Given the description of an element on the screen output the (x, y) to click on. 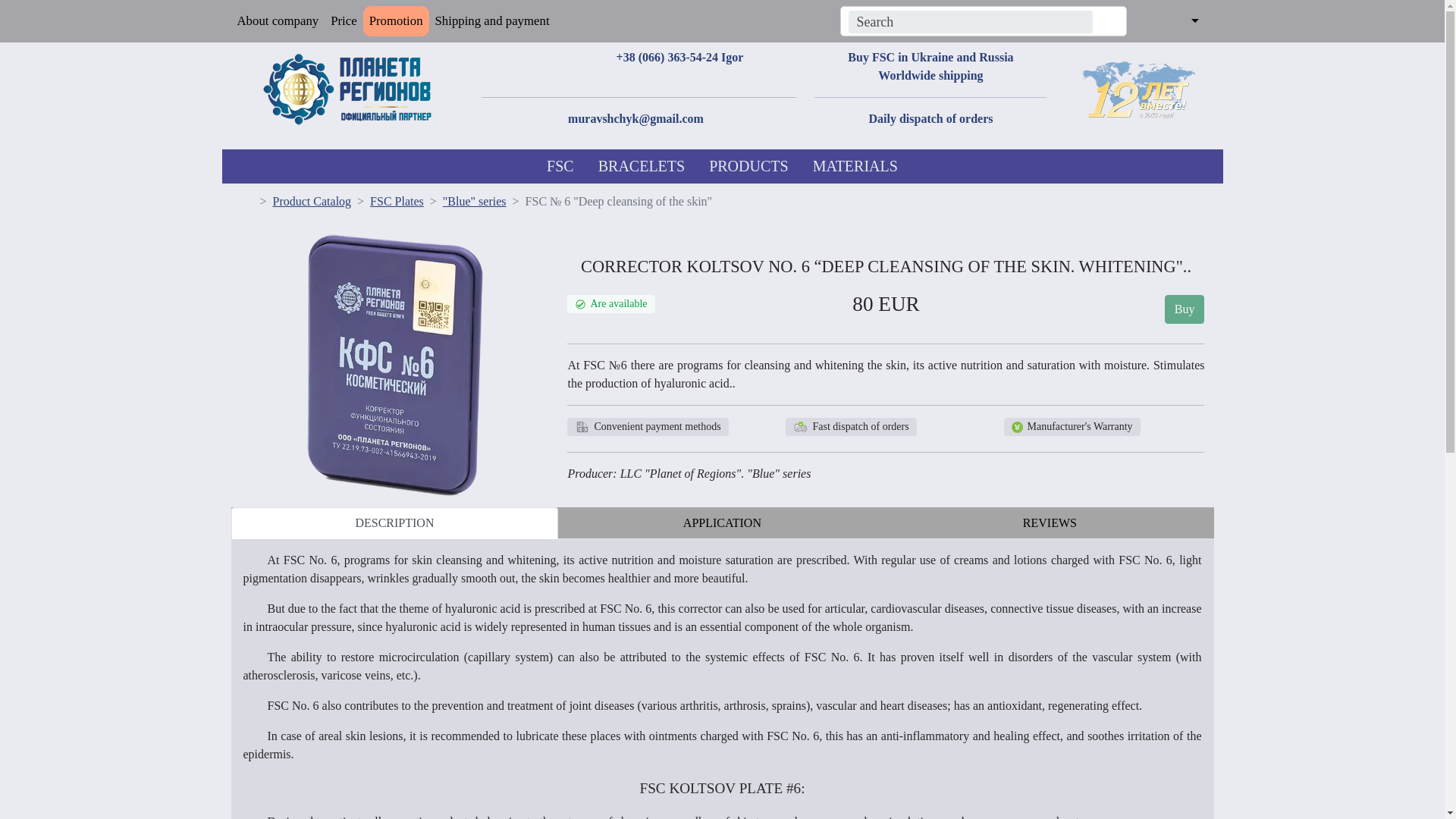
Telegram (624, 74)
About company (277, 20)
Telegram (557, 56)
Viber (535, 56)
Price (343, 20)
MATERIALS (855, 166)
Shipping and payment (492, 20)
FSC (560, 166)
Promotion (395, 20)
Viber (603, 74)
home page (246, 201)
BRACELETS (641, 166)
PRODUCTS (748, 166)
